Given the description of an element on the screen output the (x, y) to click on. 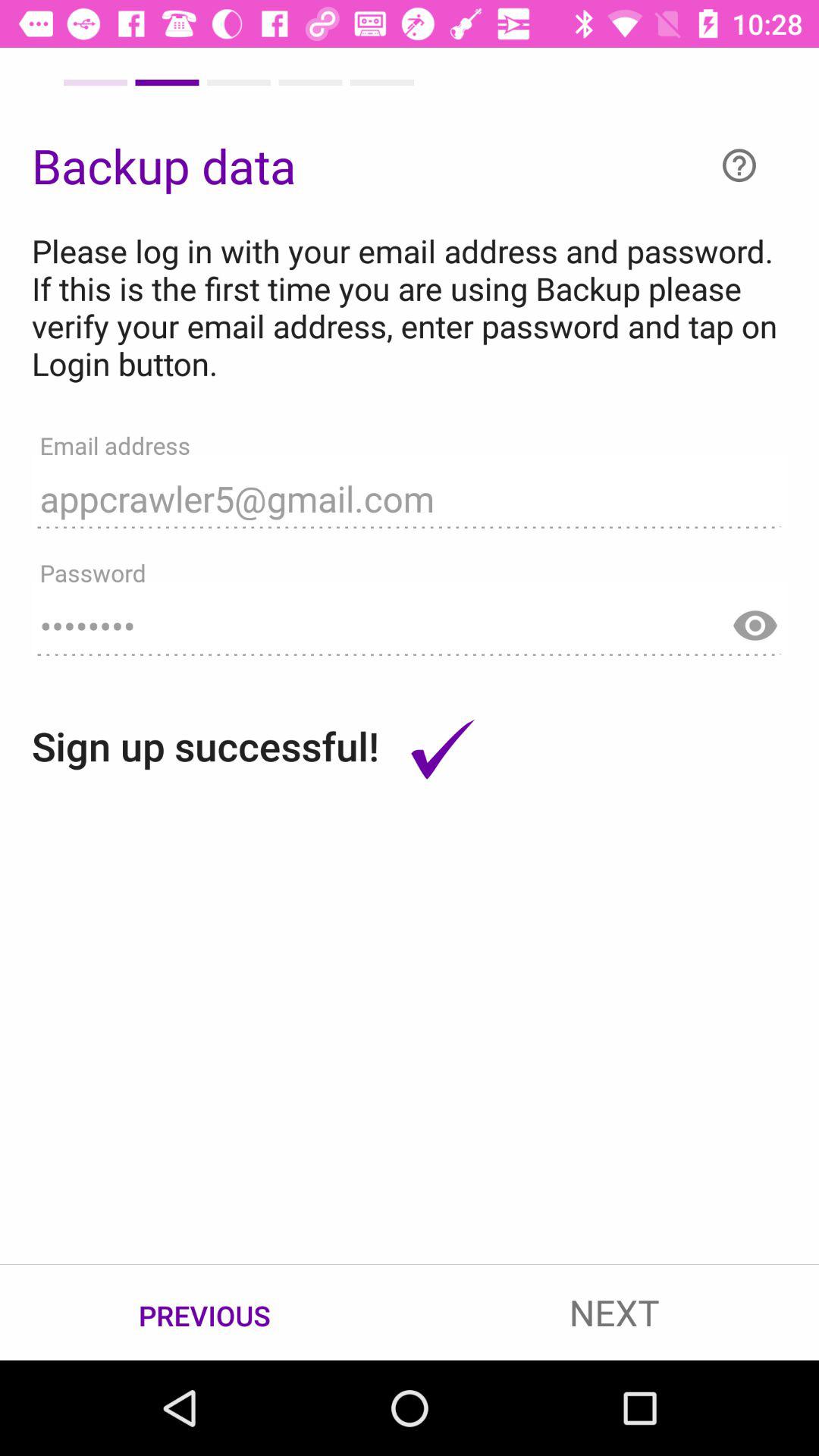
view hidden text icon (755, 618)
